Given the description of an element on the screen output the (x, y) to click on. 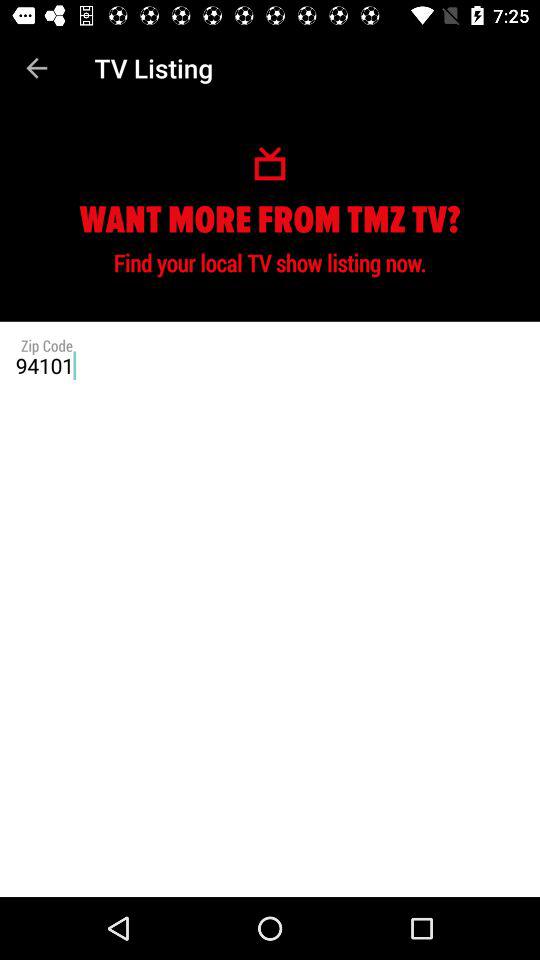
select icon at the center (269, 365)
